Given the description of an element on the screen output the (x, y) to click on. 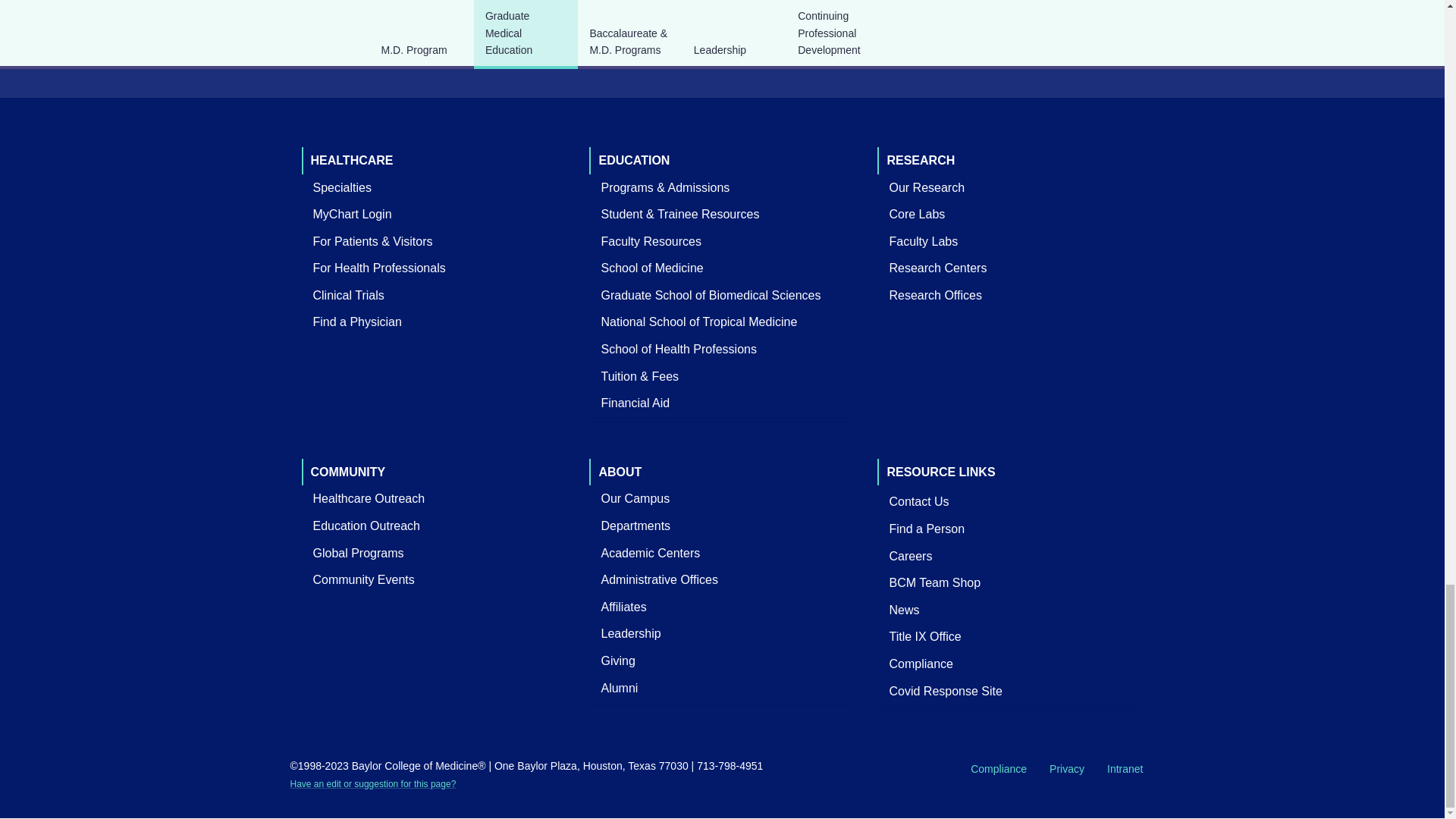
Covid Response Site (945, 690)
Compliance (920, 663)
Web Request (372, 783)
Title IX and Gender Discrimination (924, 636)
